Given the description of an element on the screen output the (x, y) to click on. 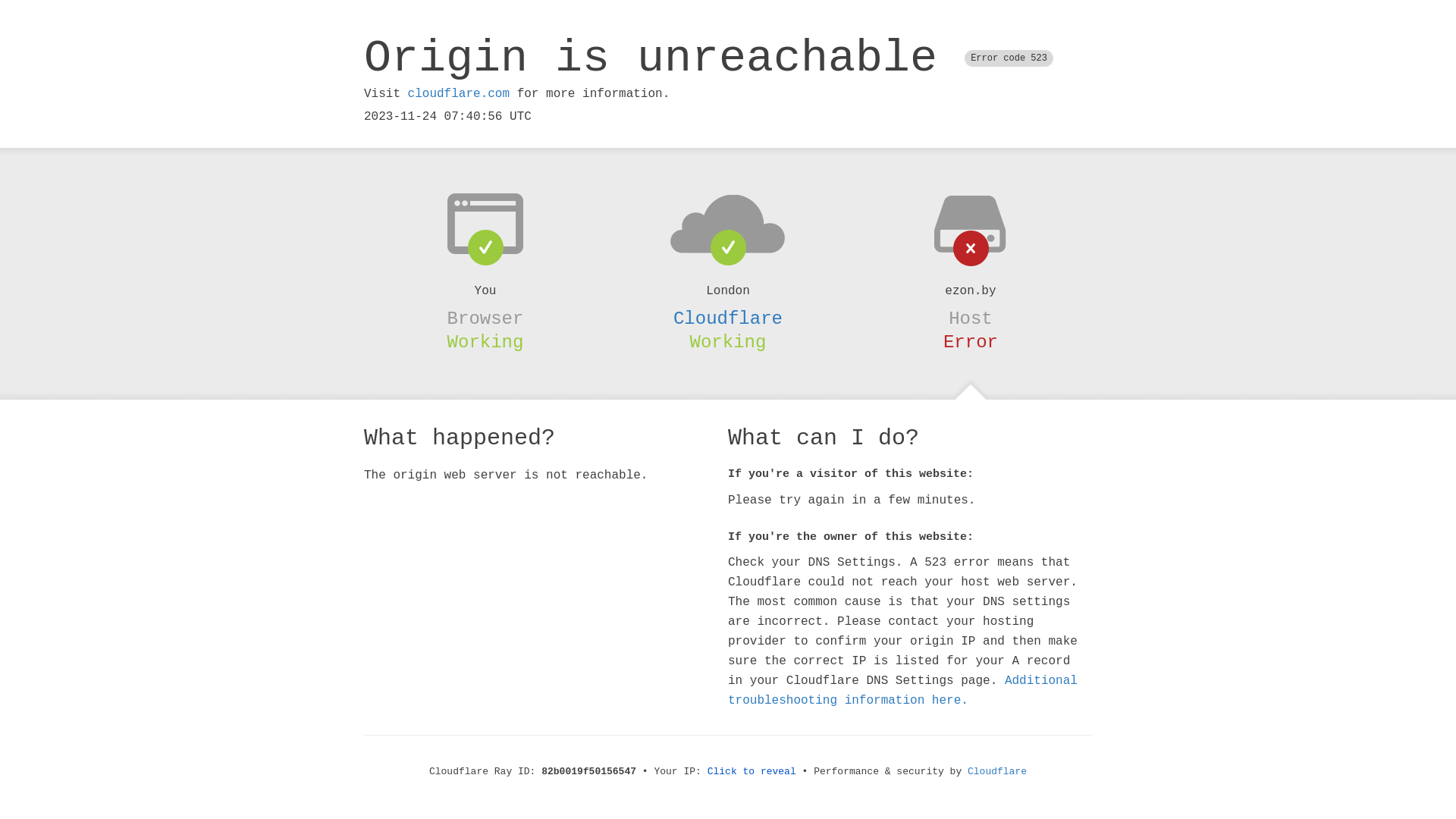
Additional troubleshooting information here. Element type: text (902, 690)
cloudflare.com Element type: text (458, 93)
Click to reveal Element type: text (751, 771)
Cloudflare Element type: text (996, 771)
Cloudflare Element type: text (727, 318)
